Given the description of an element on the screen output the (x, y) to click on. 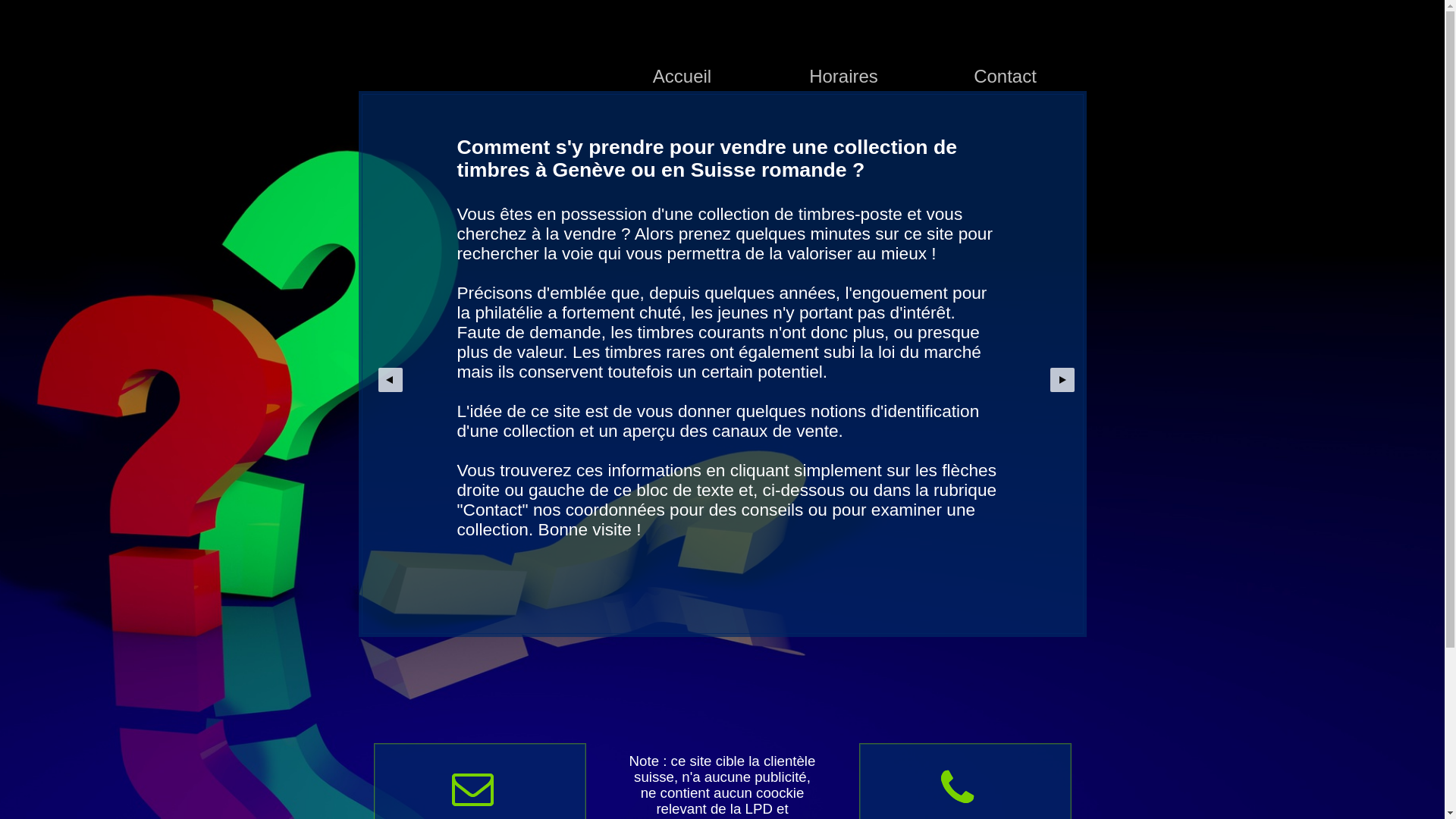
Accueil Element type: text (681, 45)
Contact Element type: text (1004, 45)
Horaires Element type: text (842, 45)
